Given the description of an element on the screen output the (x, y) to click on. 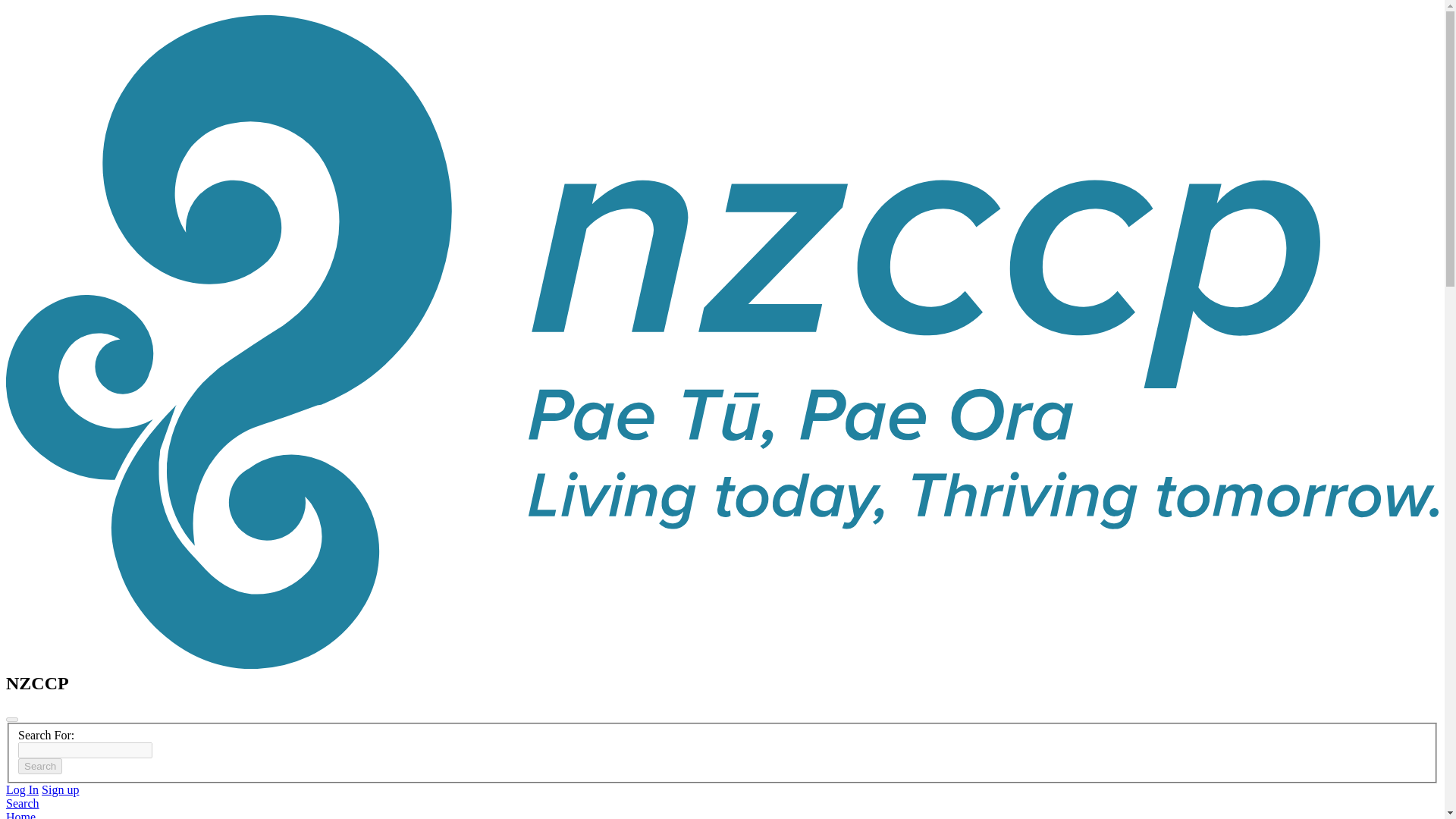
Home (19, 814)
Login (22, 789)
Search (22, 802)
Search (39, 765)
Go to Home (19, 814)
Search (39, 765)
Log In (22, 789)
Sign up (60, 789)
Sign up (60, 789)
Search (39, 765)
